Given the description of an element on the screen output the (x, y) to click on. 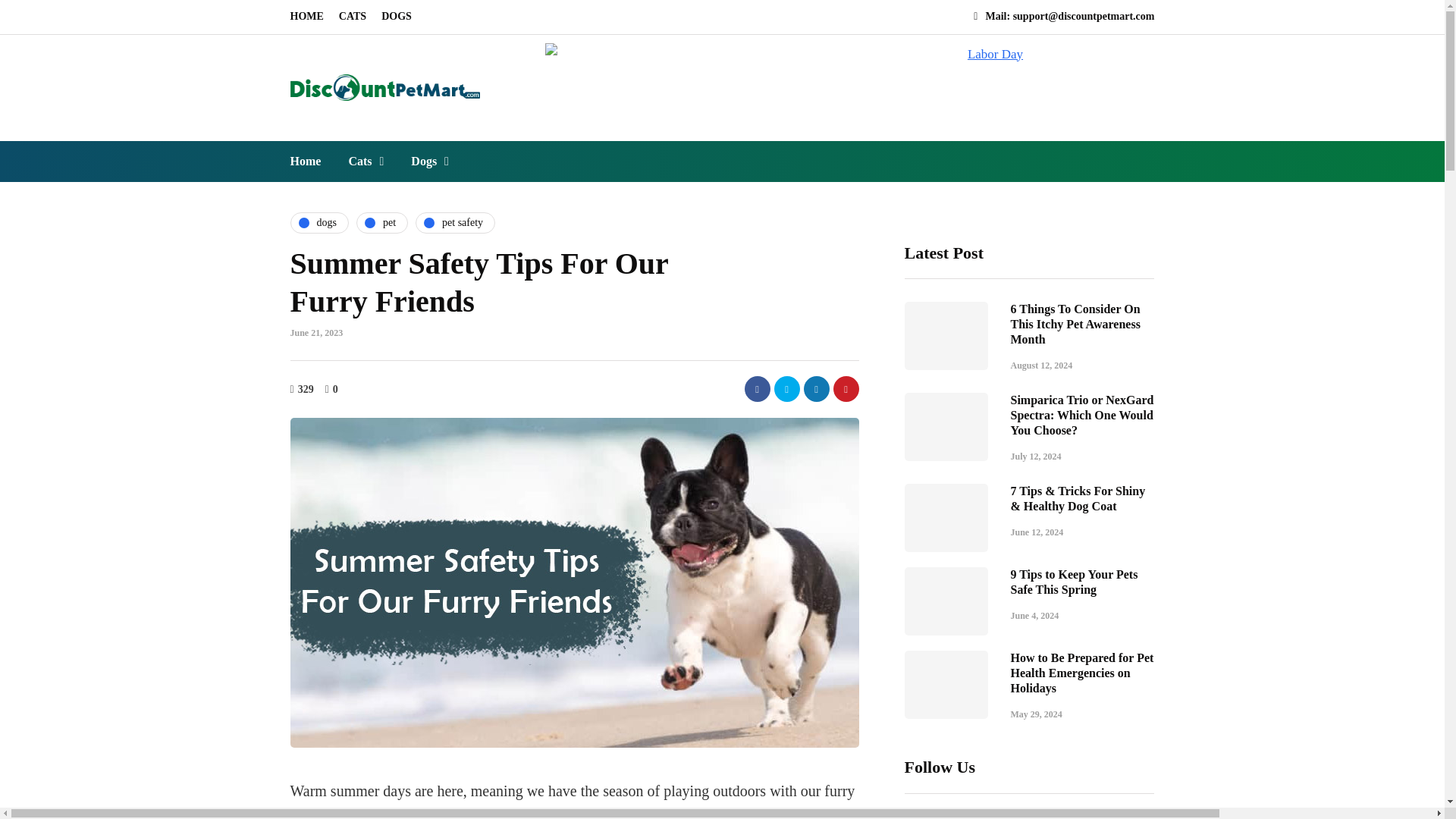
Dog Test (430, 160)
Share with LinkedIn (816, 388)
Cats (365, 160)
Share with Facebook (757, 388)
Pin this (845, 388)
HOME (309, 17)
Cat (365, 160)
Cat (352, 17)
CATS (352, 17)
Dogs (430, 160)
